Given the description of an element on the screen output the (x, y) to click on. 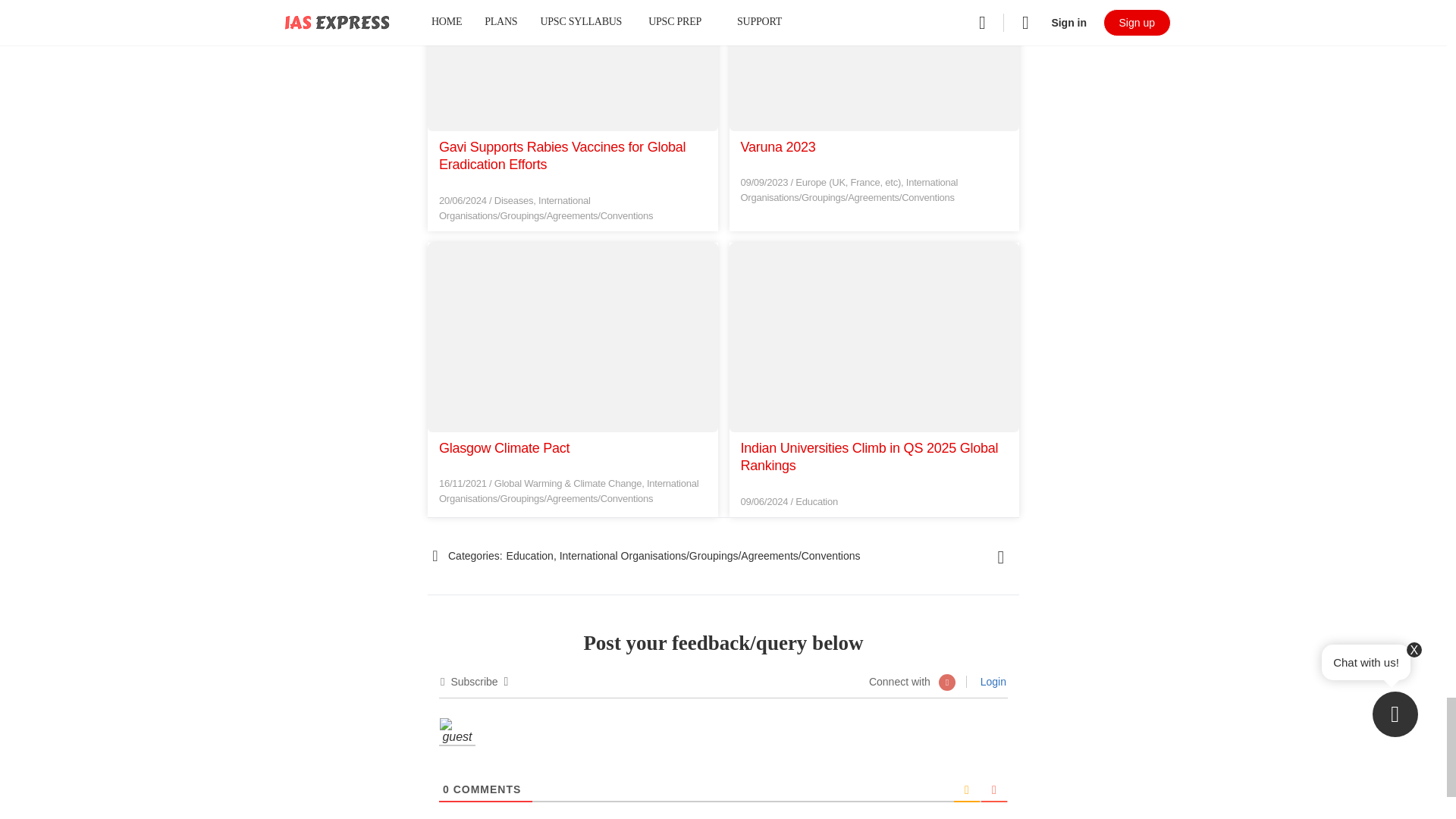
Diseases (514, 200)
